Given the description of an element on the screen output the (x, y) to click on. 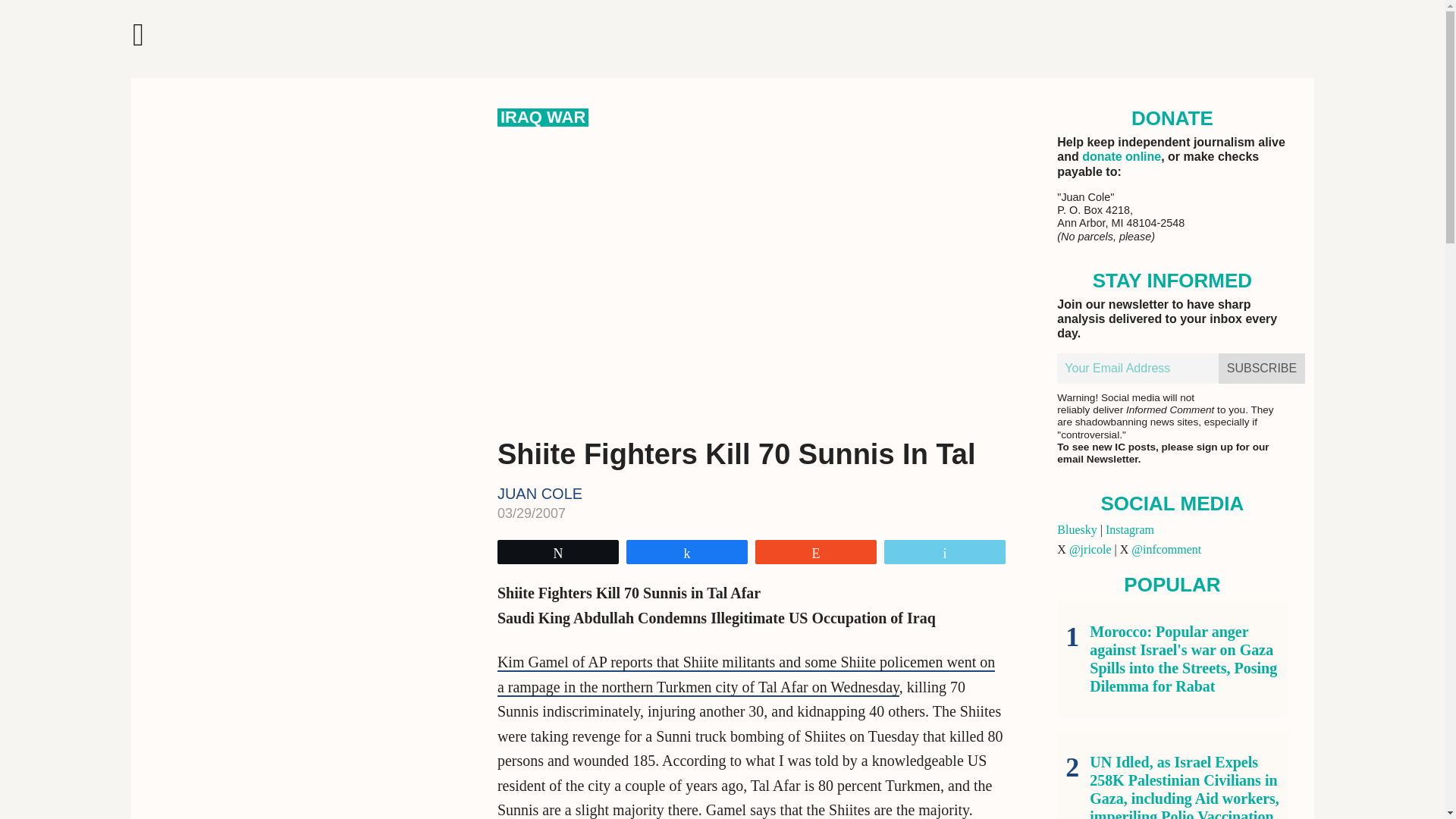
IRAQ WAR (542, 117)
subscribe (1262, 368)
donate online (1120, 155)
JUAN COLE (539, 493)
